Given the description of an element on the screen output the (x, y) to click on. 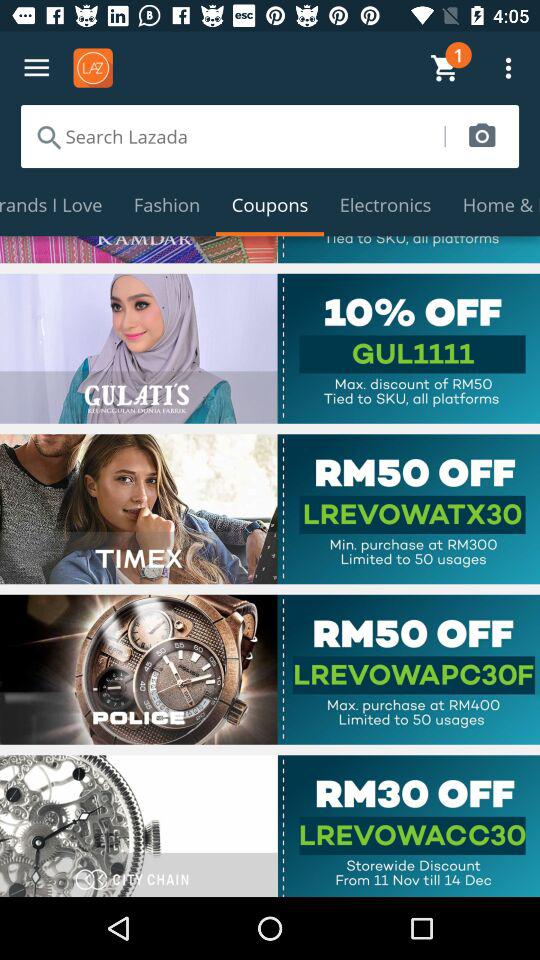
select coupon (270, 669)
